Given the description of an element on the screen output the (x, y) to click on. 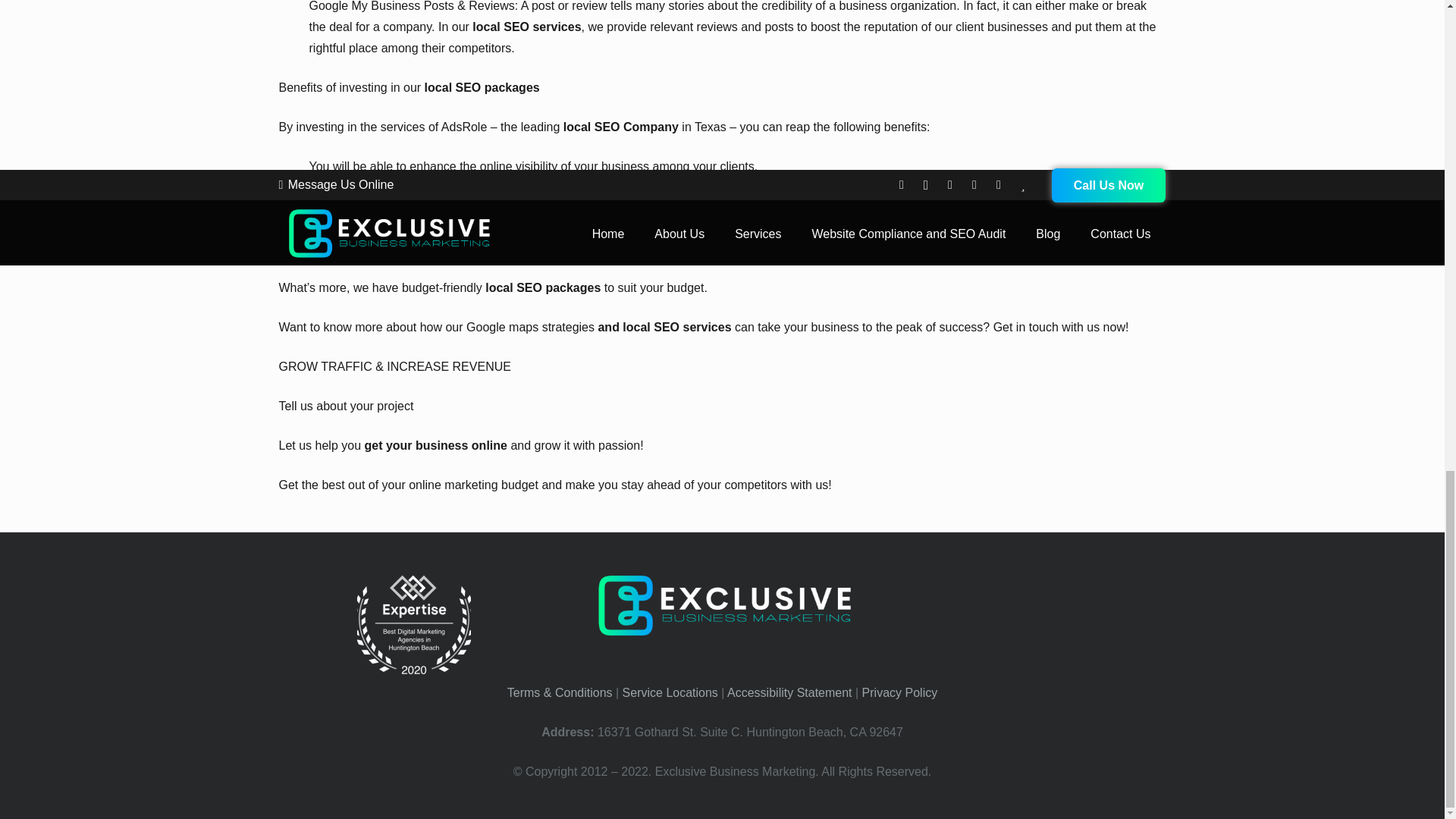
get your business online (435, 445)
Accessibility Statement (788, 692)
Privacy Policy (899, 692)
Service Locations (670, 692)
